Given the description of an element on the screen output the (x, y) to click on. 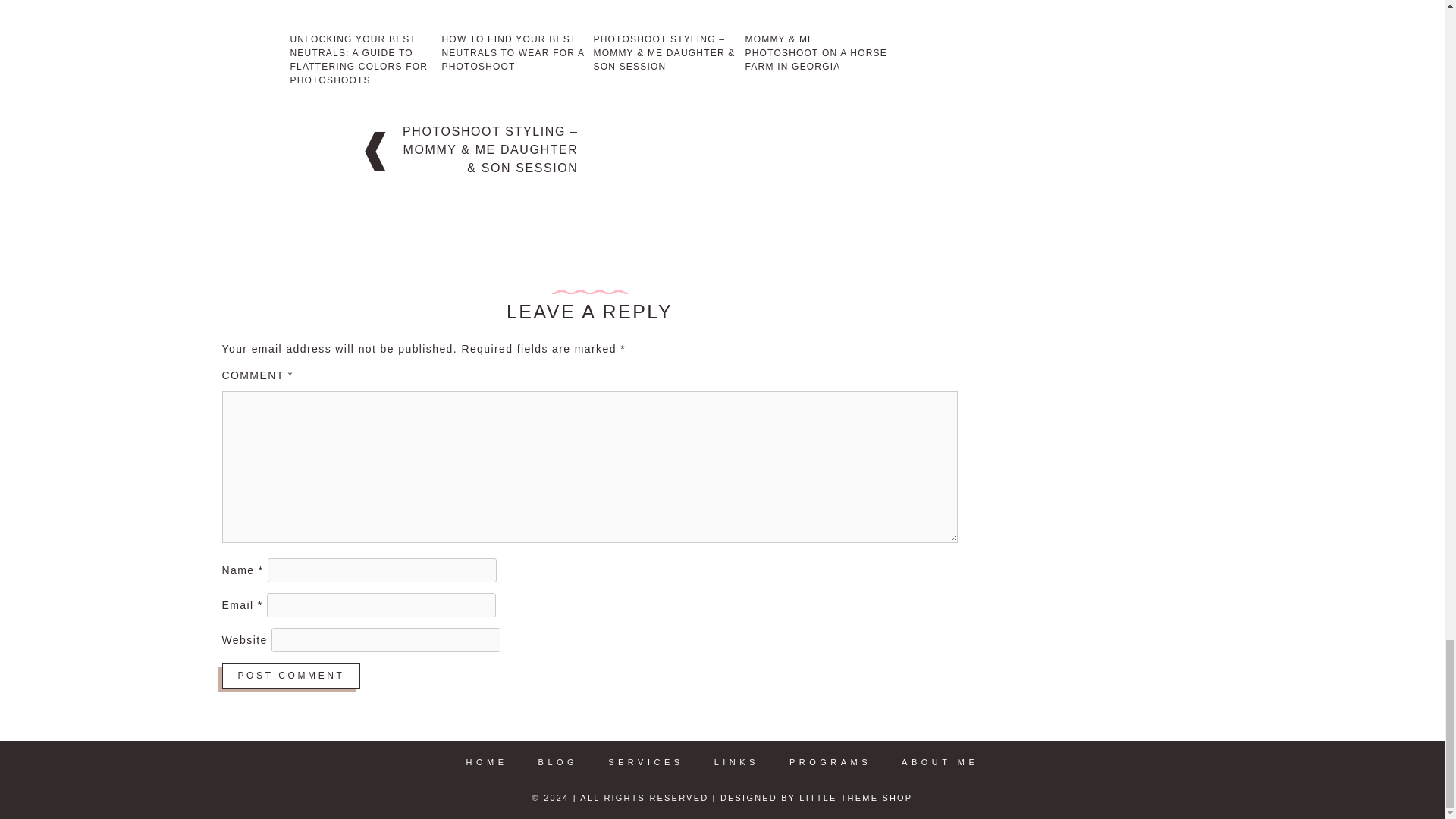
Post Comment (290, 675)
